Given the description of an element on the screen output the (x, y) to click on. 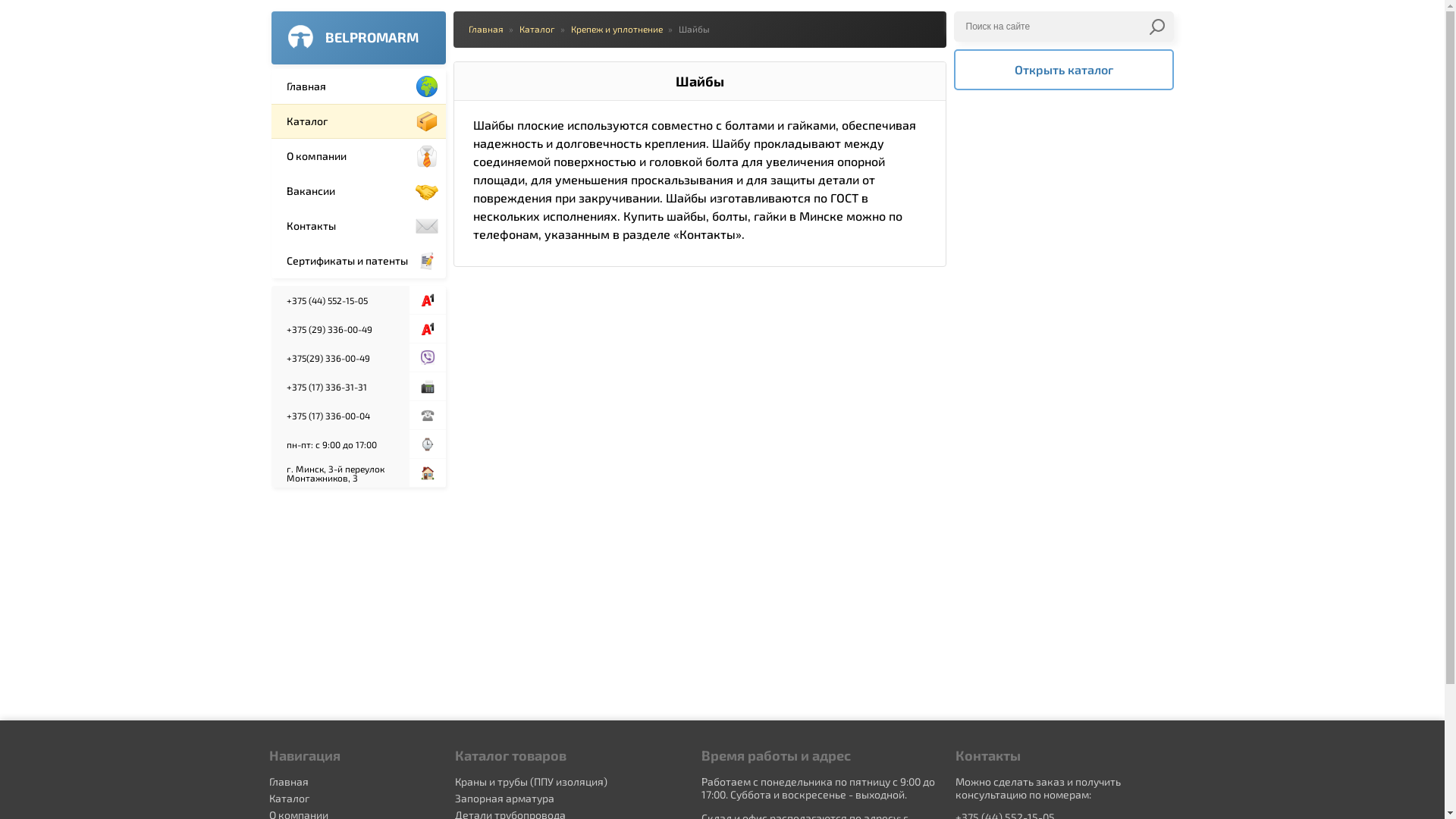
+375 (17) 336-31-31 Element type: text (340, 386)
+375 (17) 336-00-04 Element type: text (340, 415)
+375(29) 336-00-49 Element type: text (340, 357)
BELPROMARM Element type: text (358, 37)
+375 (44) 552-15-05 Element type: text (340, 299)
+375 (29) 336-00-49 Element type: text (340, 328)
